Given the description of an element on the screen output the (x, y) to click on. 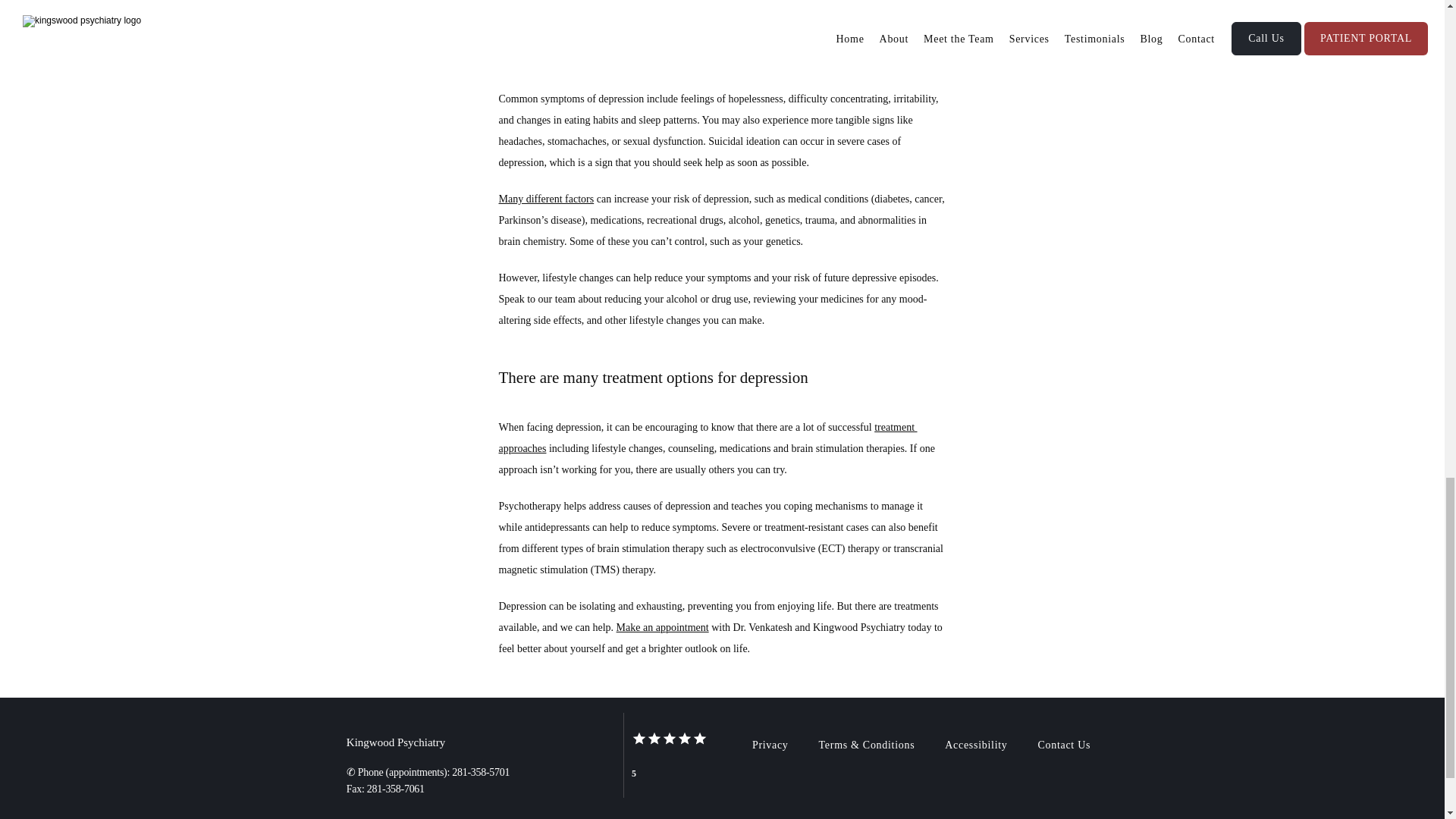
treatment approaches (708, 437)
Contact Us (1064, 745)
Privacy (770, 745)
Accessibility (975, 745)
Make an appointment (662, 627)
Many different factors (546, 198)
